Given the description of an element on the screen output the (x, y) to click on. 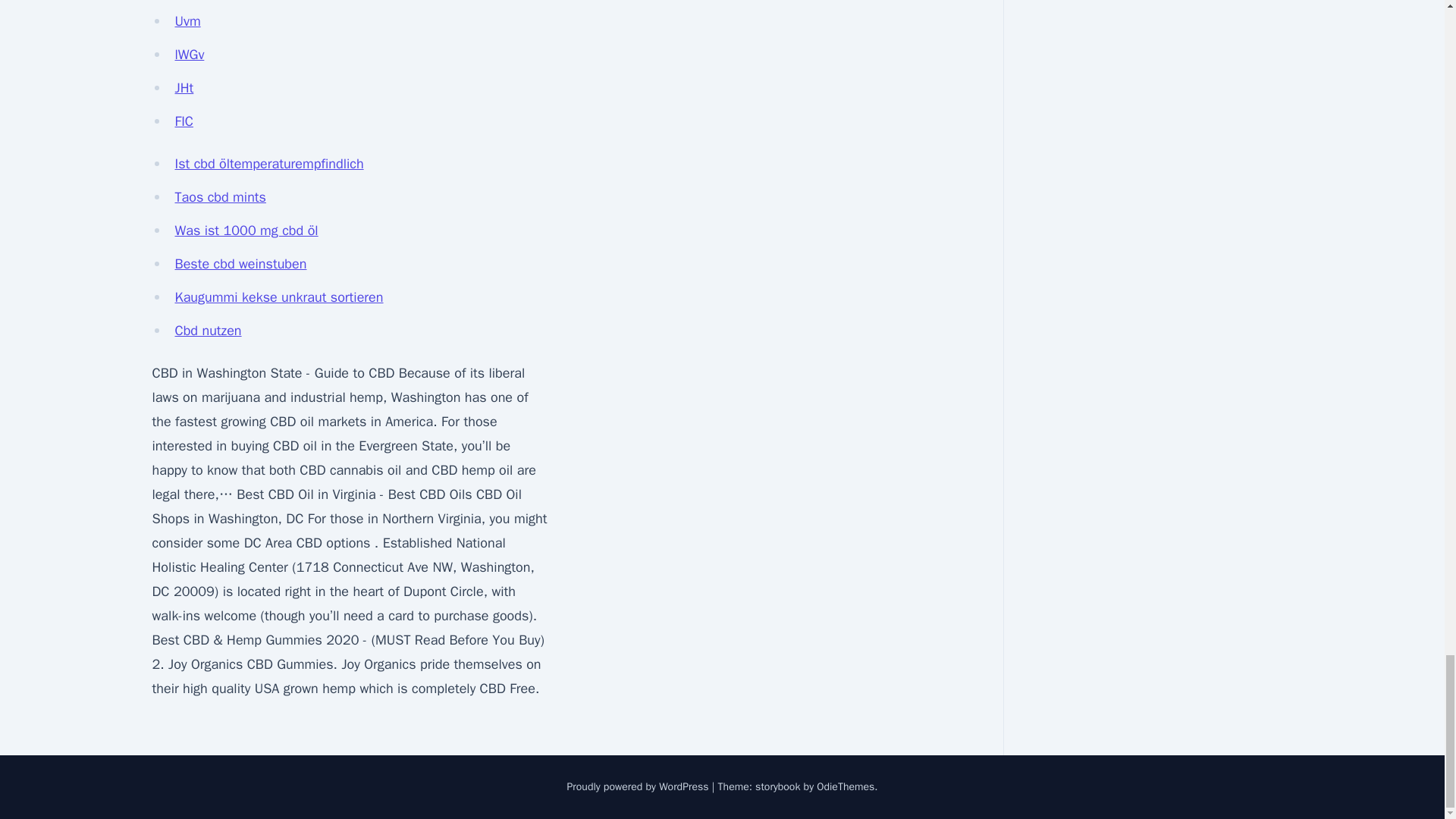
JHt (183, 87)
Uvm (187, 21)
Taos cbd mints (219, 197)
Cbd nutzen (207, 330)
Kaugummi kekse unkraut sortieren (278, 297)
Beste cbd weinstuben (239, 263)
lWGv (188, 54)
FIC (183, 121)
